Given the description of an element on the screen output the (x, y) to click on. 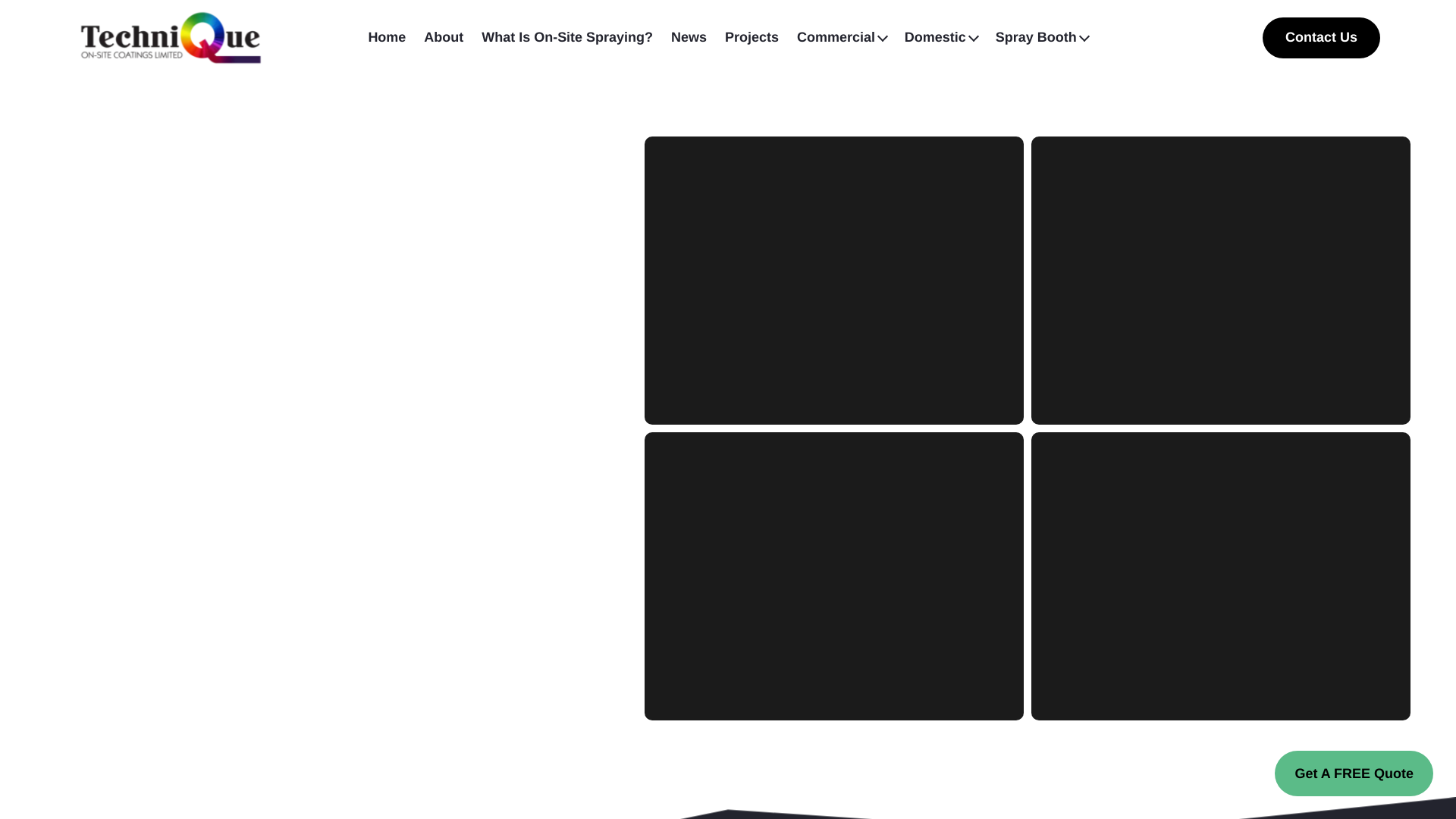
What Is On-Site Spraying? (566, 37)
Contact Us (1321, 37)
Home (387, 37)
Projects (751, 37)
News (688, 37)
About (443, 37)
